Given the description of an element on the screen output the (x, y) to click on. 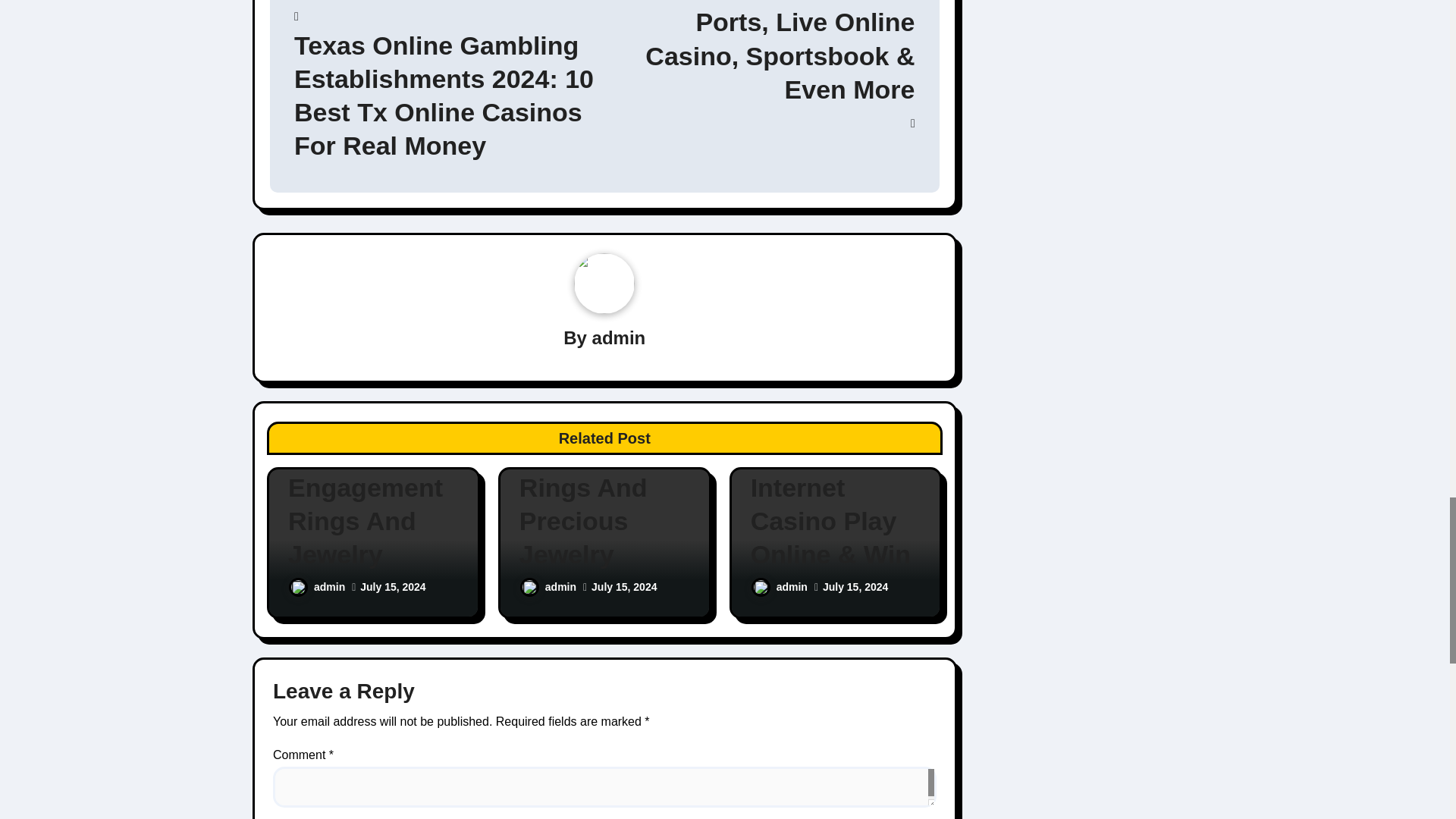
Permalink to: Lab Grown Up Ruby Engagement Rings And Jewelry (373, 487)
